Given the description of an element on the screen output the (x, y) to click on. 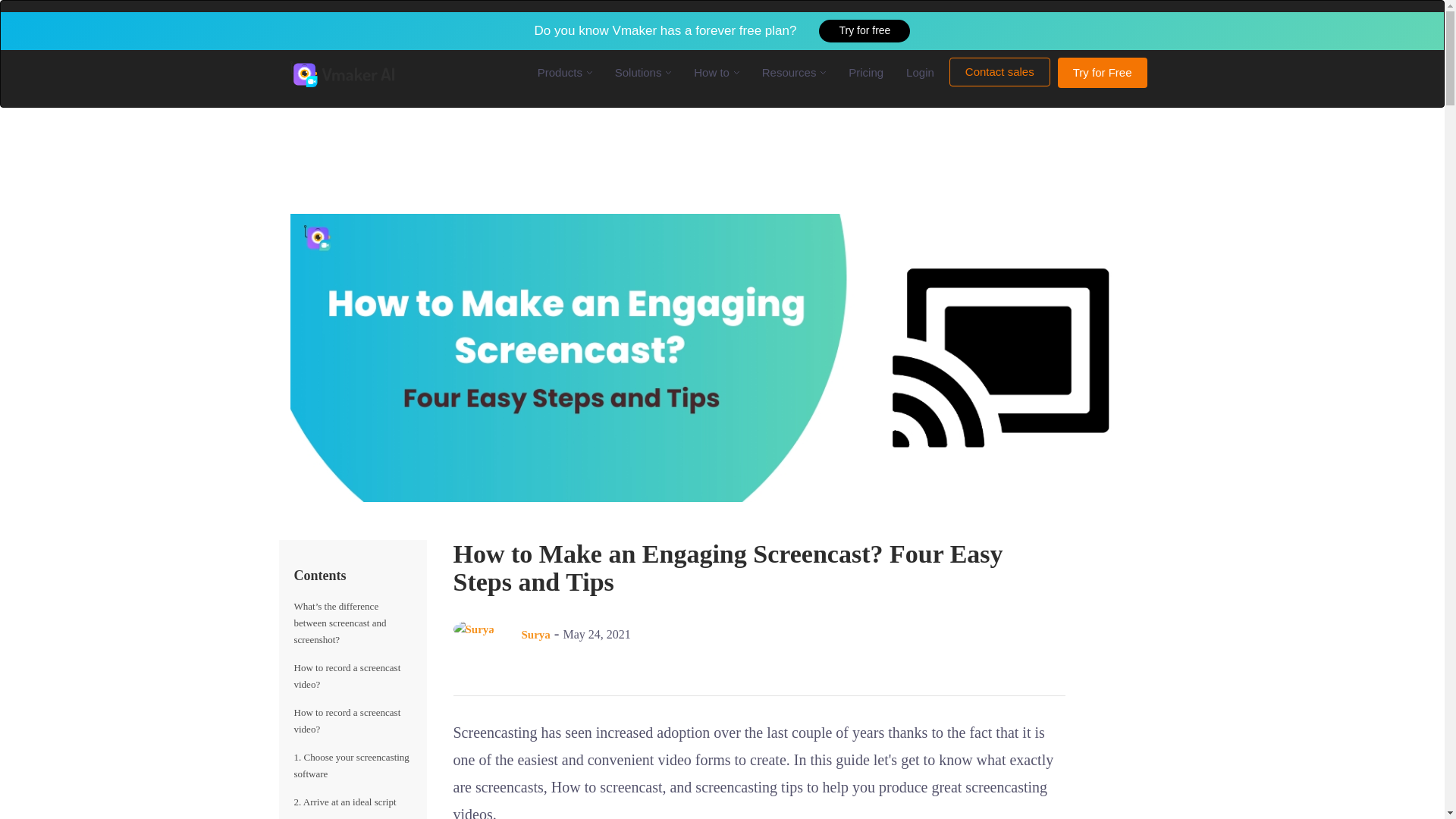
Solutions (643, 72)
Products (564, 72)
Try for free (864, 30)
How to (715, 72)
